Given the description of an element on the screen output the (x, y) to click on. 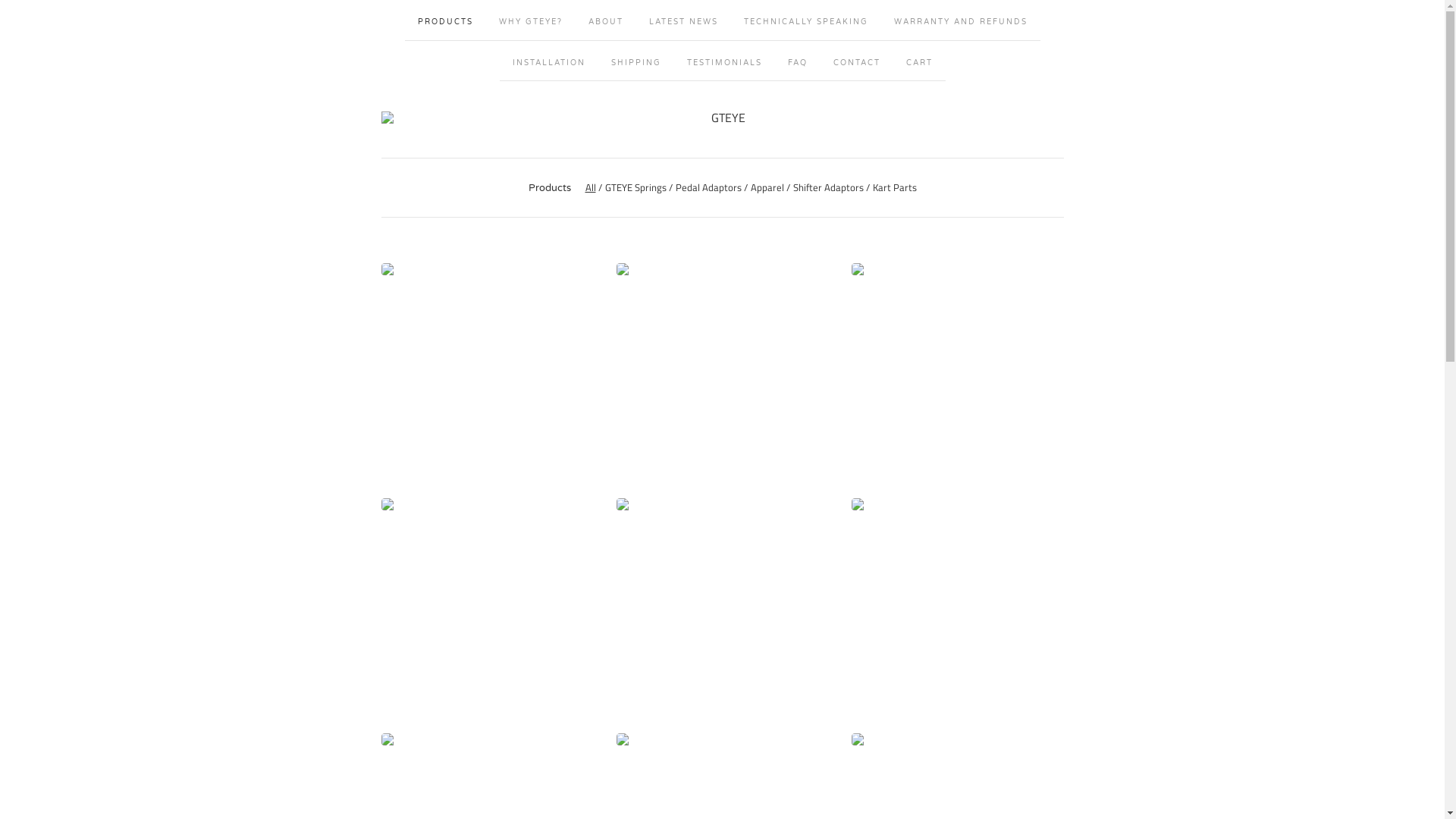
LATEST NEWS Element type: text (682, 20)
Kart Parts Element type: text (894, 186)
Apparel Element type: text (767, 186)
TECHNICALLY SPEAKING Element type: text (806, 20)
CART Element type: text (919, 60)
INSTALLATION Element type: text (547, 60)
ABOUT Element type: text (604, 20)
Pedal Adaptors Element type: text (707, 186)
SHIPPING Element type: text (635, 60)
TESTIMONIALS Element type: text (723, 60)
Shifter Adaptors Element type: text (828, 186)
PRODUCTS Element type: text (445, 20)
FAQ Element type: text (797, 60)
GTEYE Springs Element type: text (635, 186)
WHY GTEYE? Element type: text (529, 20)
View GTEYE Progressive Tee Element type: hover (956, 603)
WARRANTY AND REFUNDS Element type: text (960, 20)
All Element type: text (590, 186)
CONTACT Element type: text (856, 60)
